Given the description of an element on the screen output the (x, y) to click on. 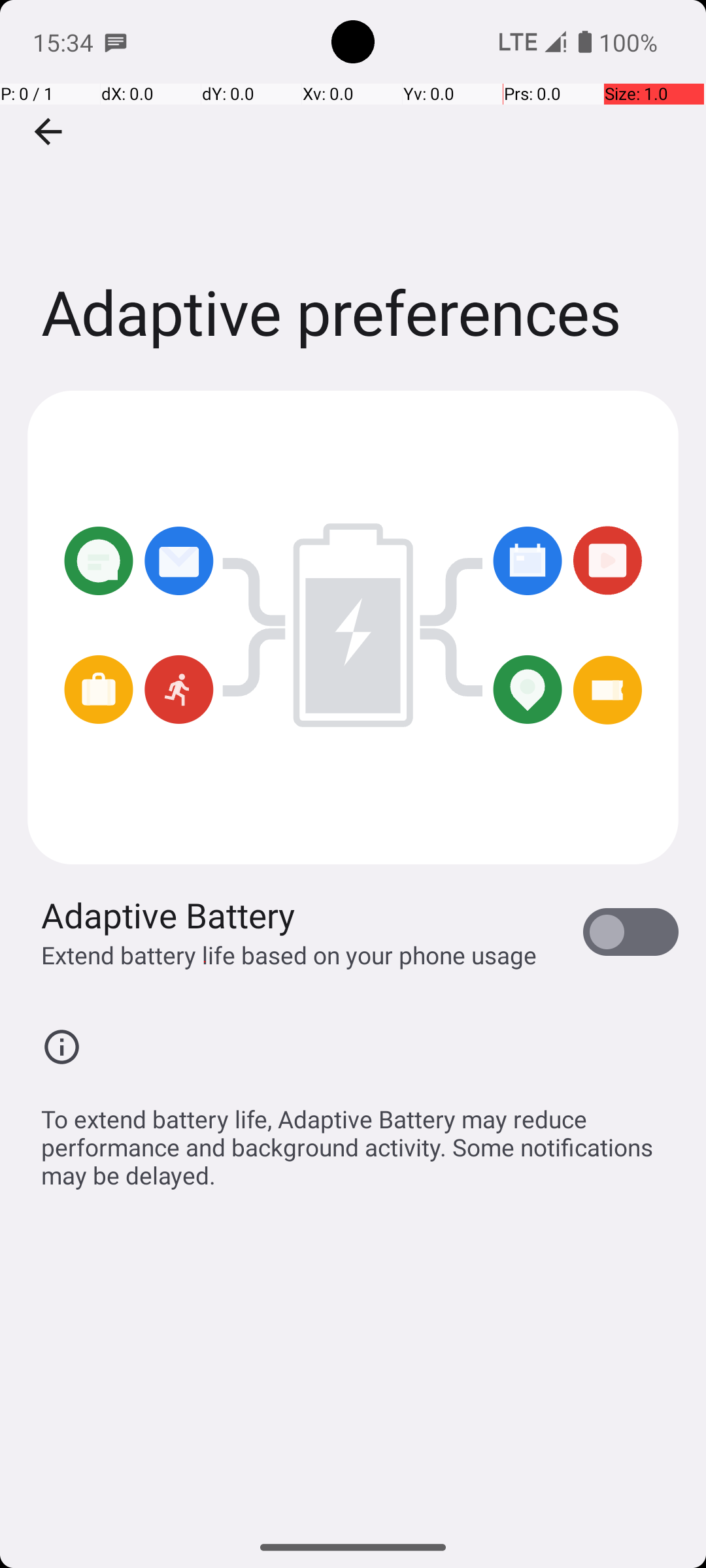
Adaptive Battery Element type: android.widget.TextView (168, 914)
Extend battery life based on your phone usage Element type: android.widget.TextView (288, 954)
To extend battery life, Adaptive Battery may reduce performance and background activity. Some notifications may be delayed. Element type: android.widget.TextView (359, 1139)
